Given the description of an element on the screen output the (x, y) to click on. 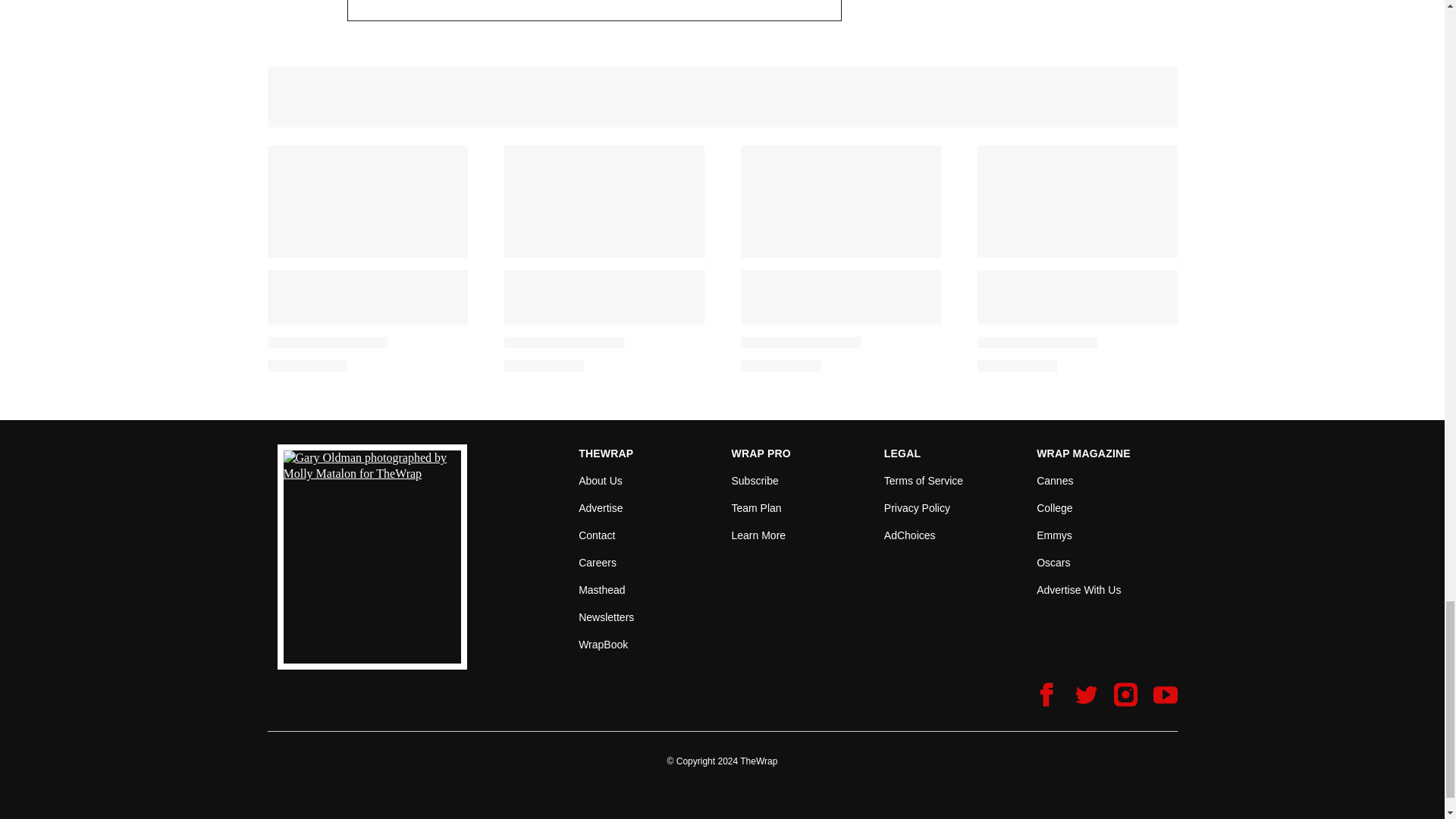
Learn more about becoming a member (758, 534)
